Given the description of an element on the screen output the (x, y) to click on. 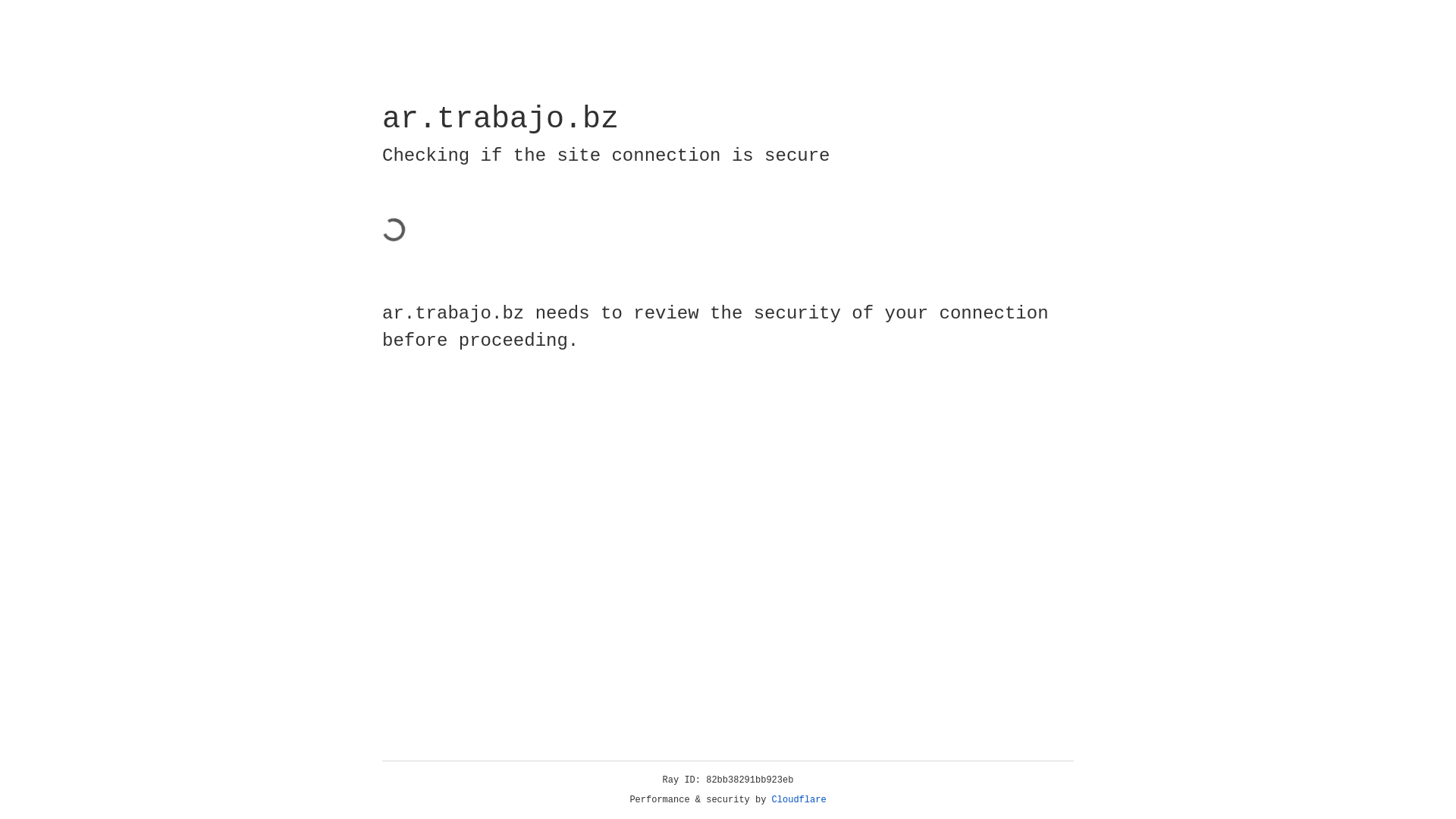
Cloudflare Element type: text (798, 799)
